Given the description of an element on the screen output the (x, y) to click on. 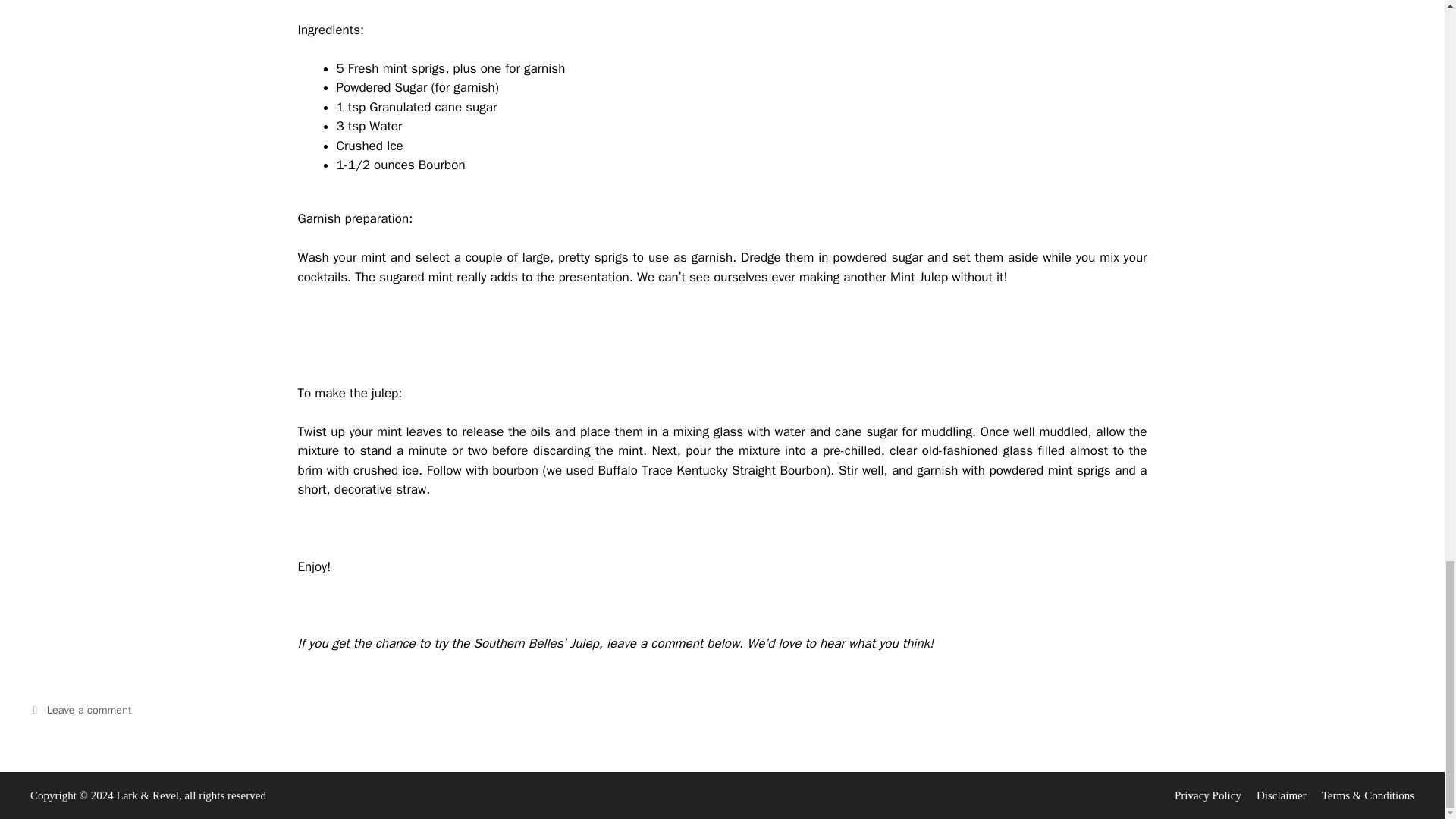
Disclaimer (1281, 795)
Leave a comment (89, 709)
Privacy Policy (1207, 795)
